Given the description of an element on the screen output the (x, y) to click on. 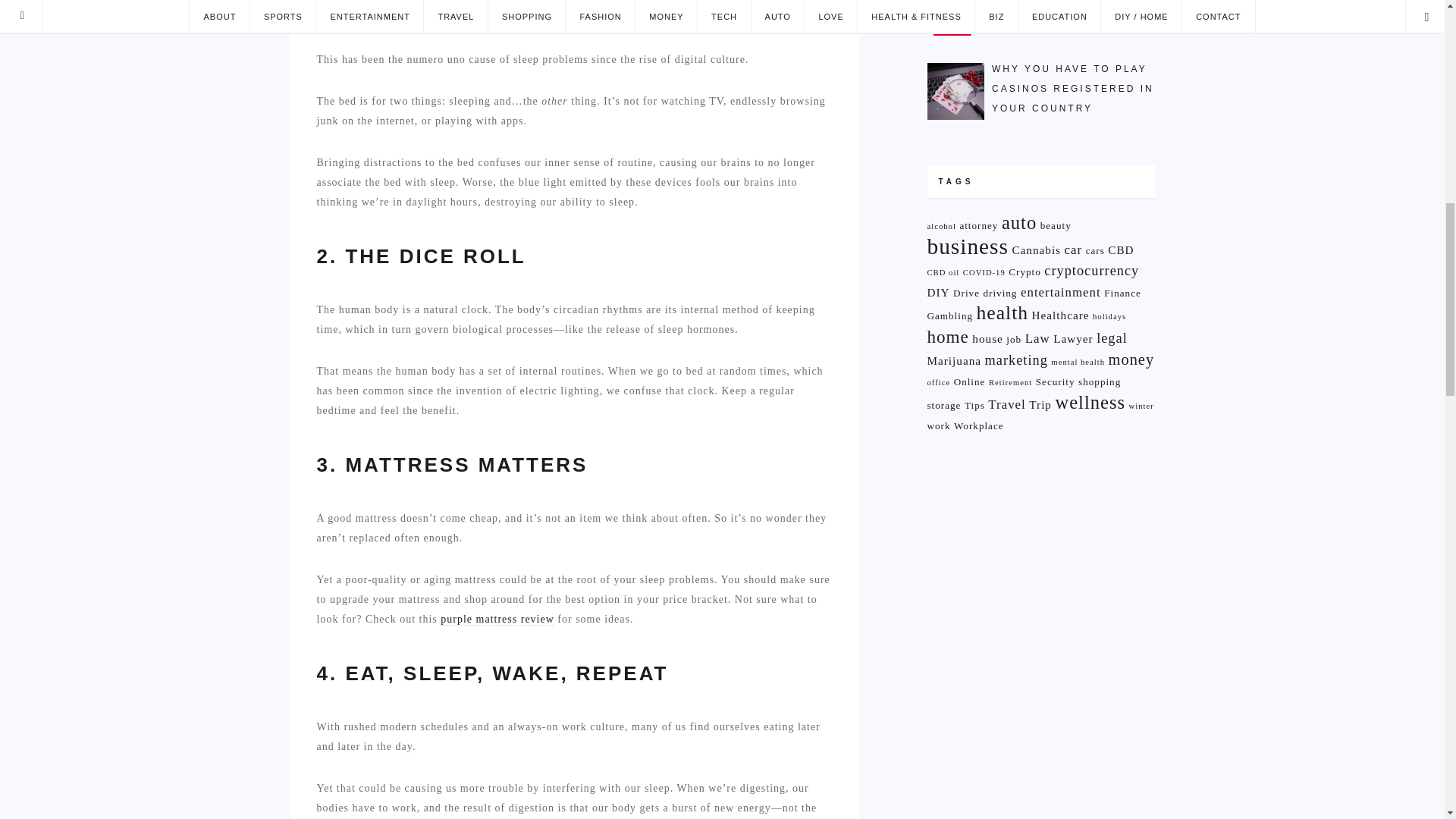
purple mattress review (497, 619)
